Given the description of an element on the screen output the (x, y) to click on. 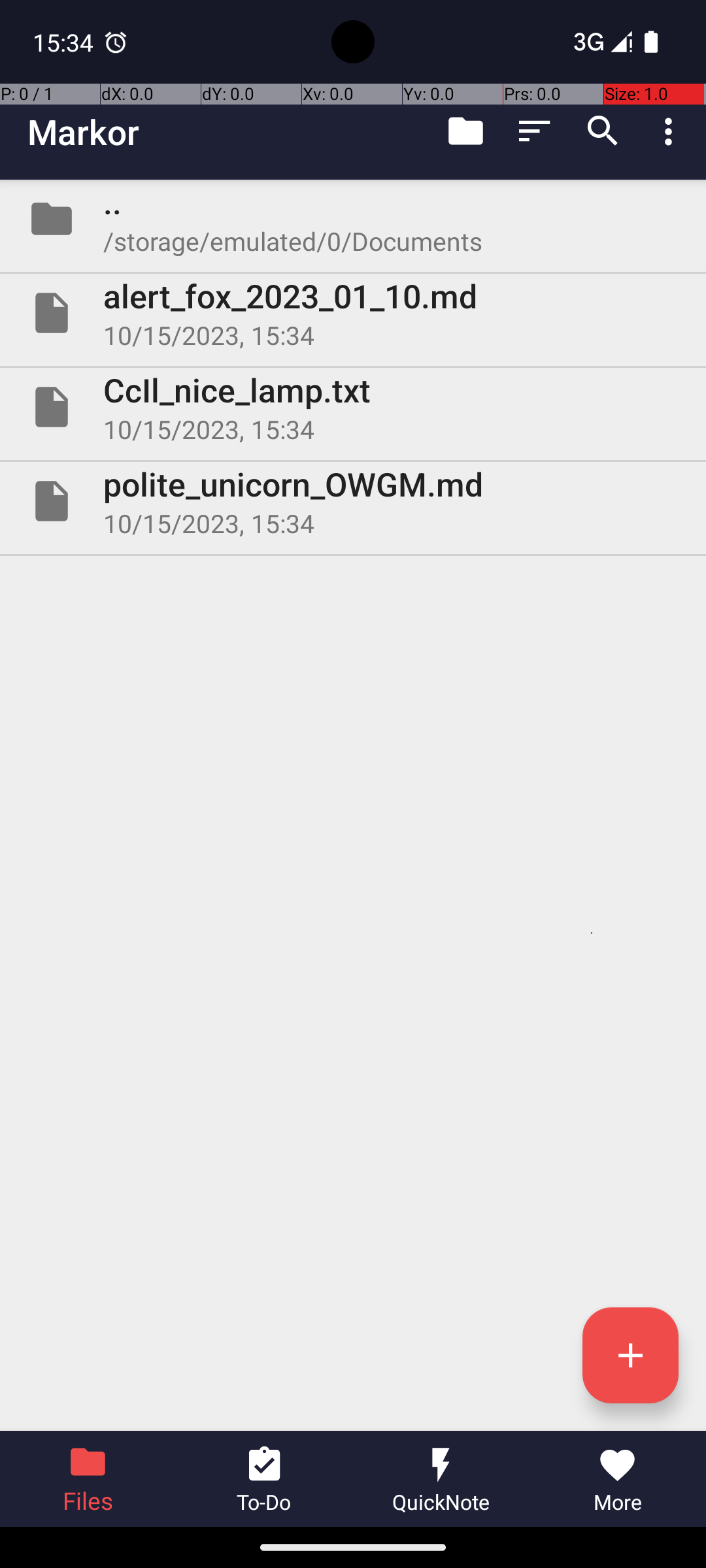
File alert_fox_2023_01_10.md  Element type: android.widget.LinearLayout (353, 312)
File CcIl_nice_lamp.txt  Element type: android.widget.LinearLayout (353, 406)
File polite_unicorn_OWGM.md  Element type: android.widget.LinearLayout (353, 500)
